Given the description of an element on the screen output the (x, y) to click on. 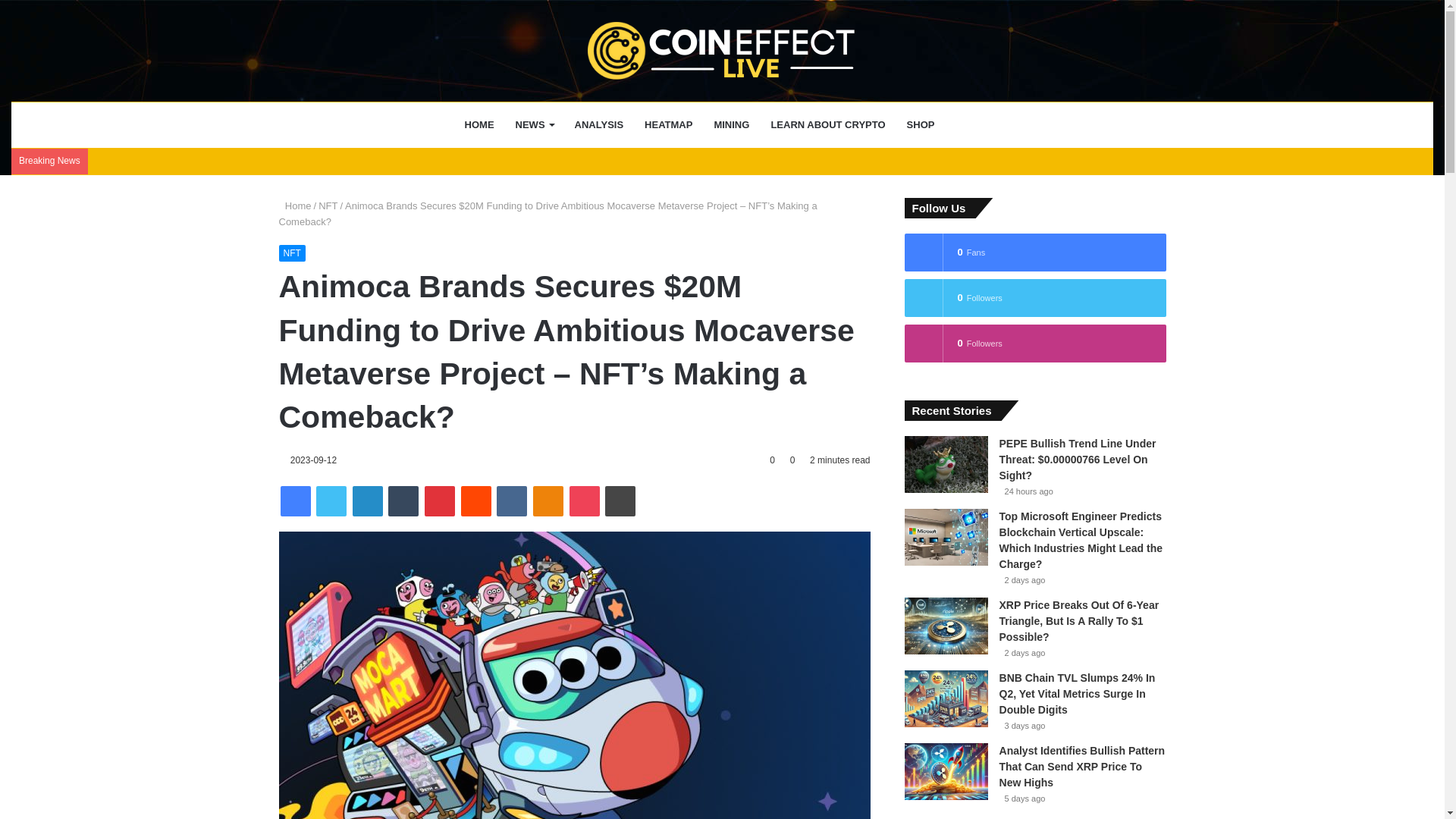
Print (619, 501)
Reddit (476, 501)
ANALYSIS (599, 125)
NFT (327, 205)
LinkedIn (367, 501)
NFT (292, 252)
Odnoklassniki (547, 501)
Reddit (476, 501)
SHOP (920, 125)
VKontakte (511, 501)
HOME (479, 125)
Tumblr (403, 501)
Odnoklassniki (547, 501)
Tumblr (403, 501)
Facebook (296, 501)
